Given the description of an element on the screen output the (x, y) to click on. 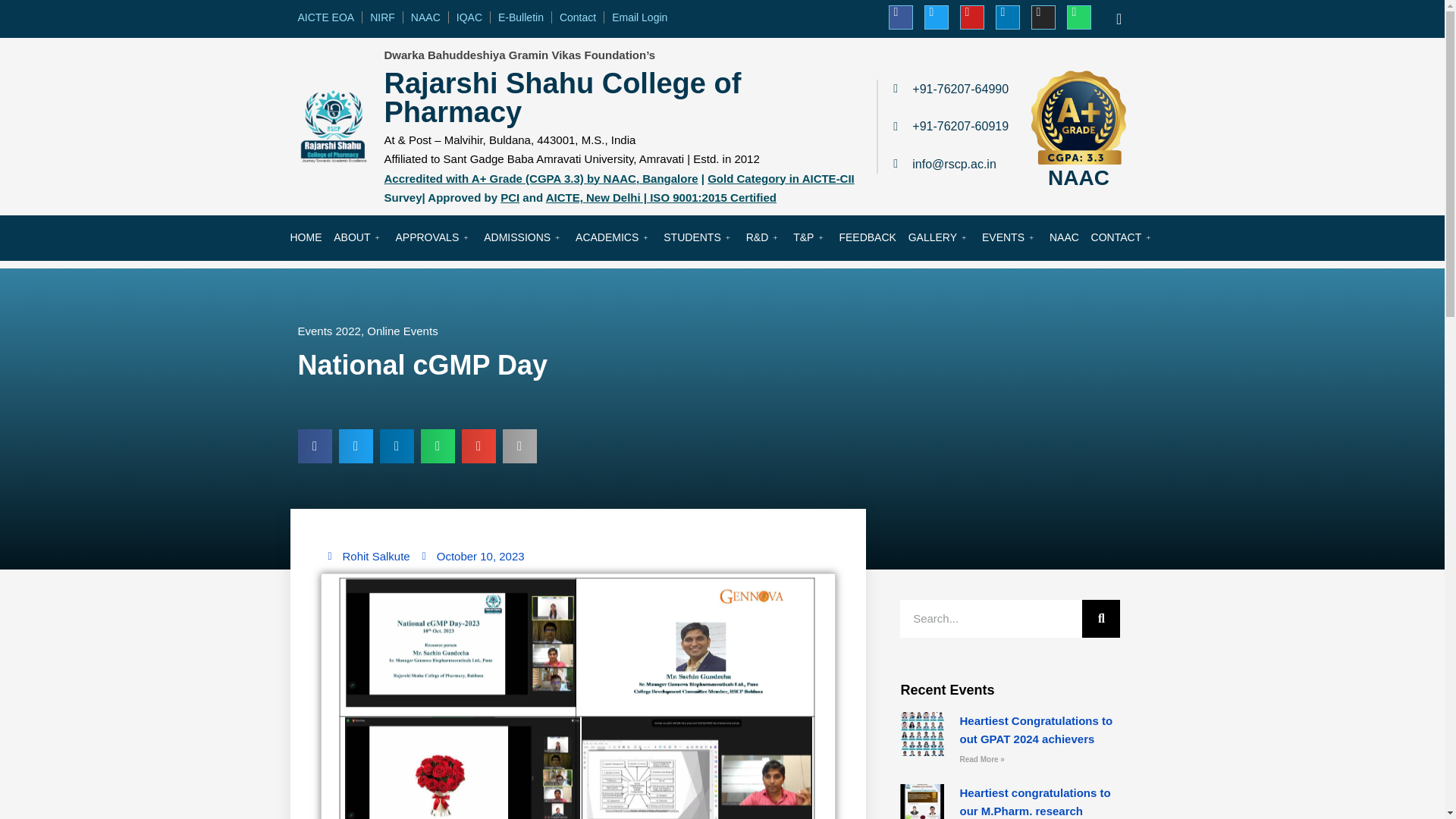
NAAC (425, 17)
ABOUT (357, 237)
Gold Category in AICTE-CII (780, 177)
Search (990, 618)
PCI (509, 196)
E-Bulletin (520, 17)
AICTE EOA (325, 17)
Contact (577, 17)
NIRF (382, 17)
Search (1100, 618)
HOME (305, 237)
IQAC (468, 17)
Email Login (639, 17)
